Given the description of an element on the screen output the (x, y) to click on. 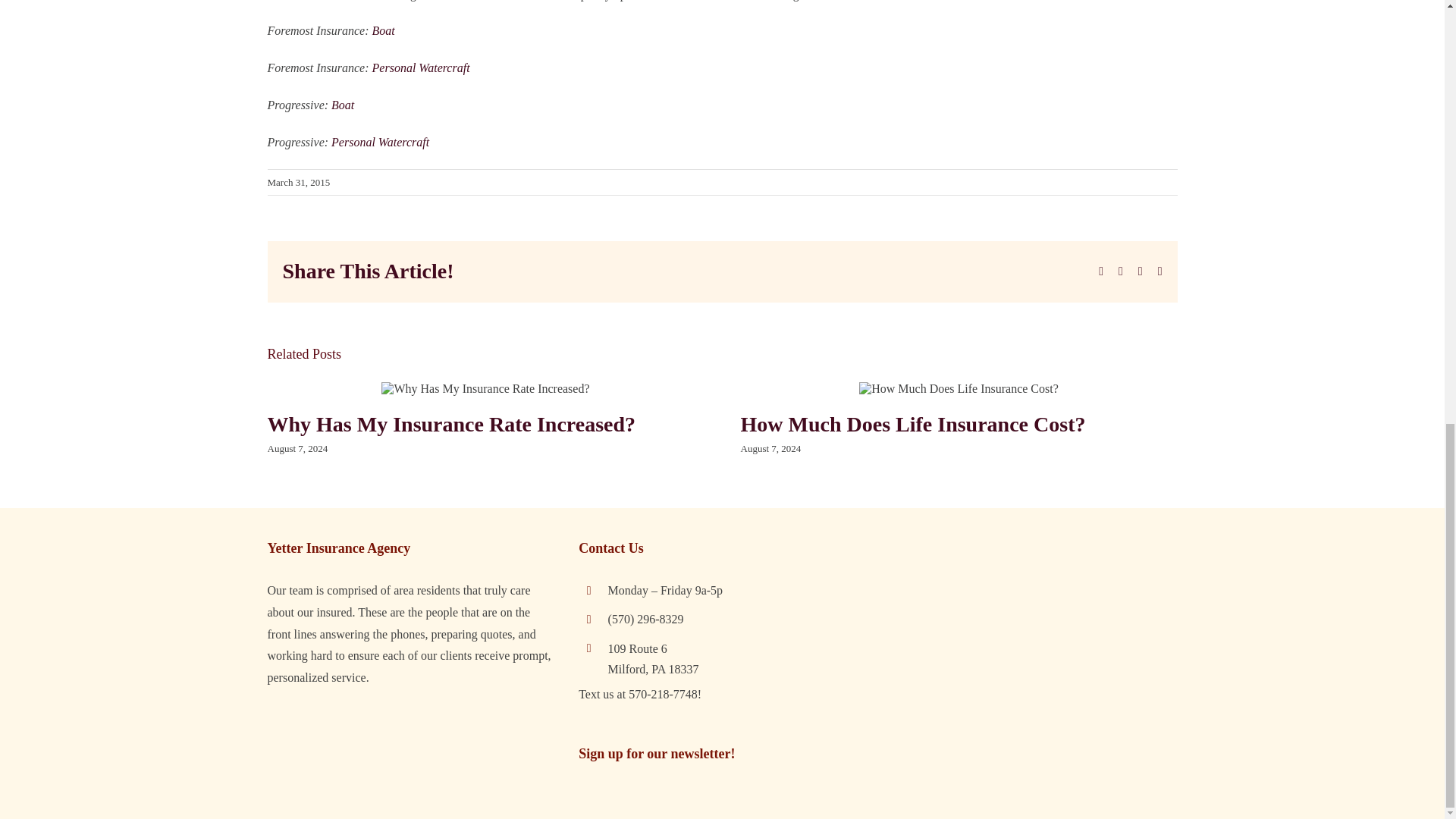
Boat (342, 104)
Why Has My Insurance Rate Increased? (450, 423)
How Much Does Life Insurance Cost? (911, 423)
Personal Watercraft (421, 67)
Personal Watercraft (380, 141)
Boat  (384, 30)
